Given the description of an element on the screen output the (x, y) to click on. 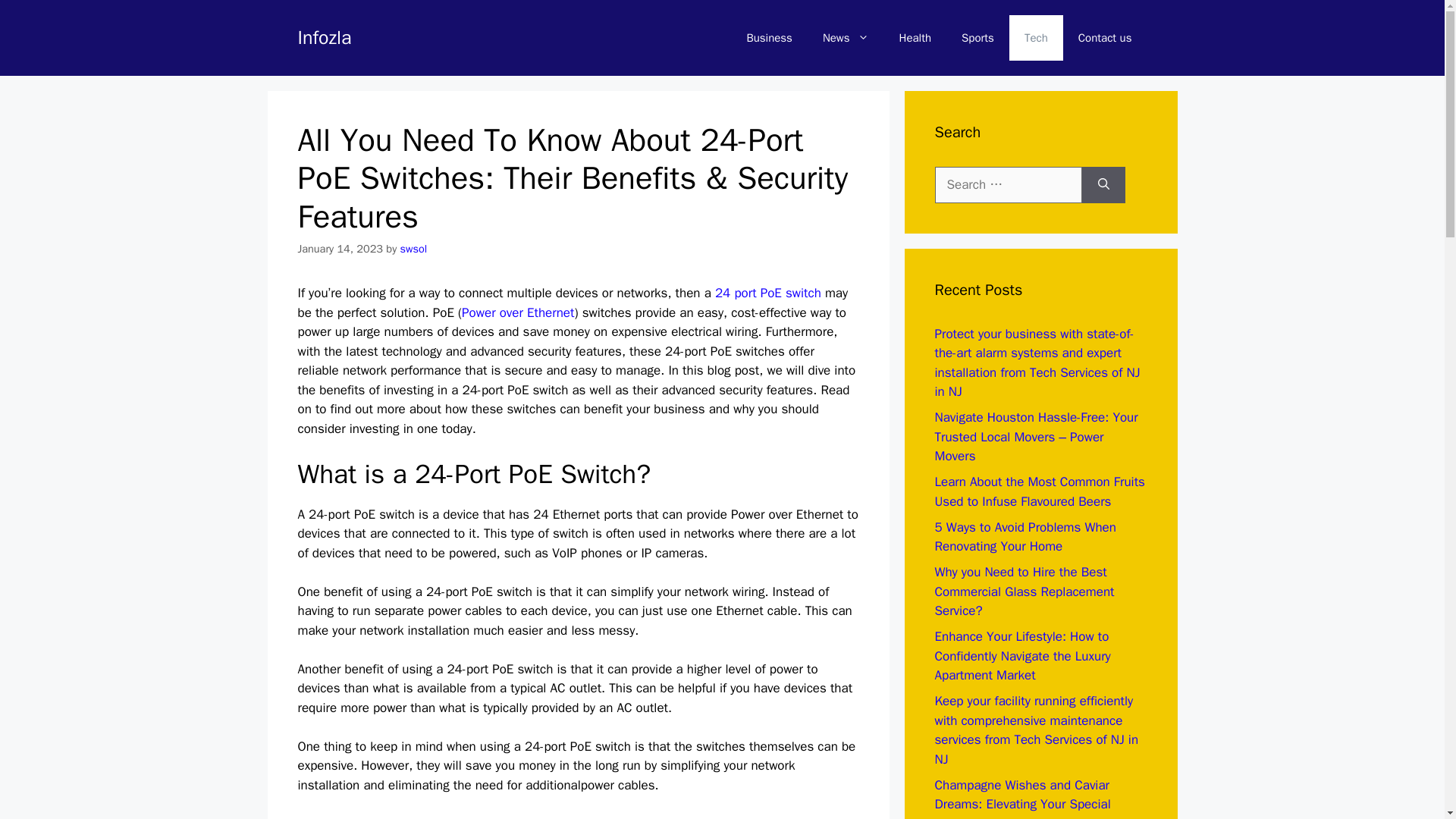
Contact us (1104, 37)
swsol (414, 248)
Tech (1035, 37)
News (845, 37)
Sports (977, 37)
Business (769, 37)
Power over Ethernet (517, 312)
Health (915, 37)
View all posts by swsol (414, 248)
